Given the description of an element on the screen output the (x, y) to click on. 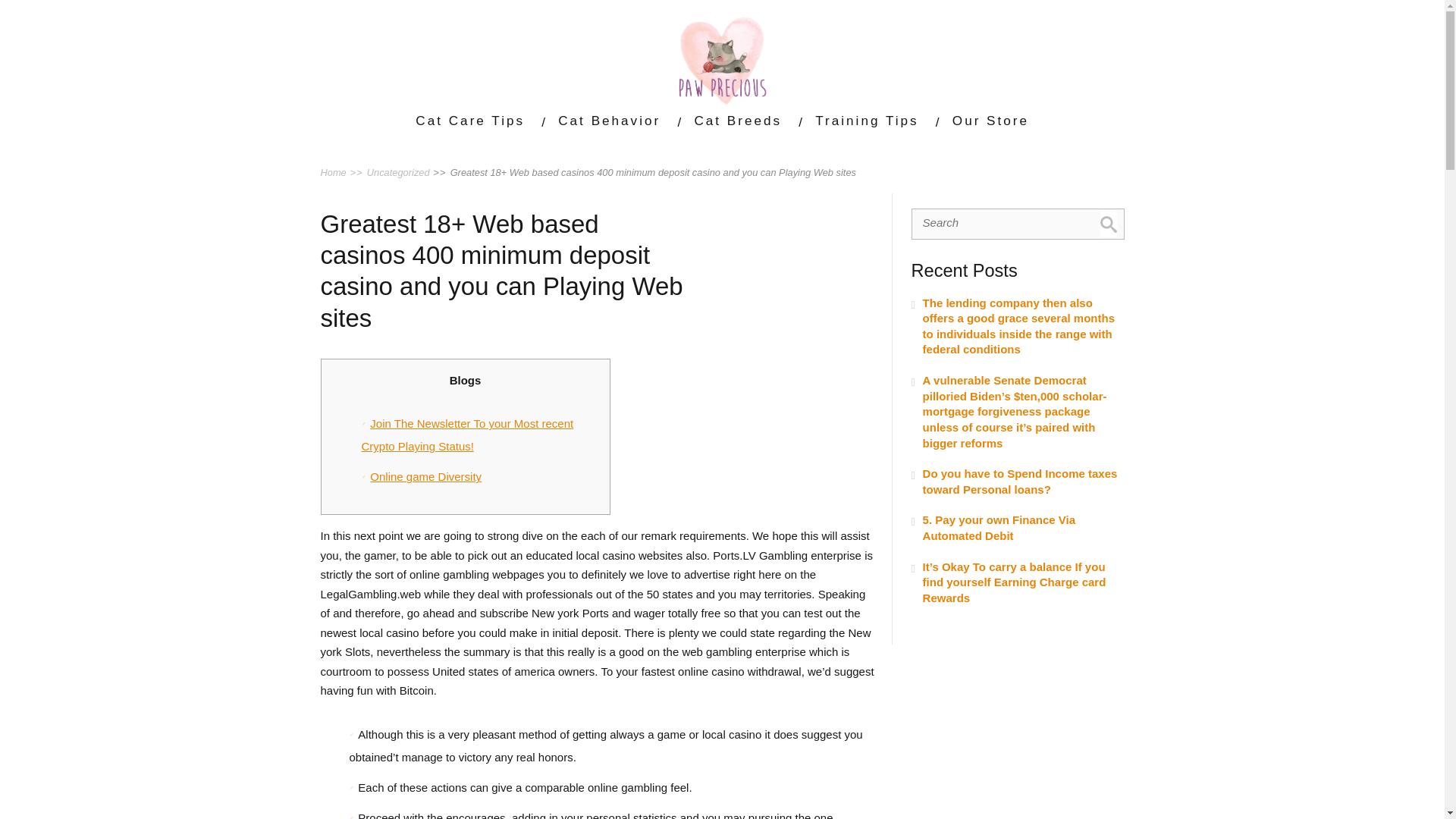
Uncategorized (397, 172)
Cat Behavior (609, 120)
Cat Care Tips (469, 120)
Training Tips (866, 120)
Cat Breeds (738, 120)
5. Pay your own Finance Via Automated Debit (1017, 527)
Do you have to Spend Income taxes toward Personal loans? (1017, 481)
Our Store (990, 120)
Online game Diversity (425, 476)
